Given the description of an element on the screen output the (x, y) to click on. 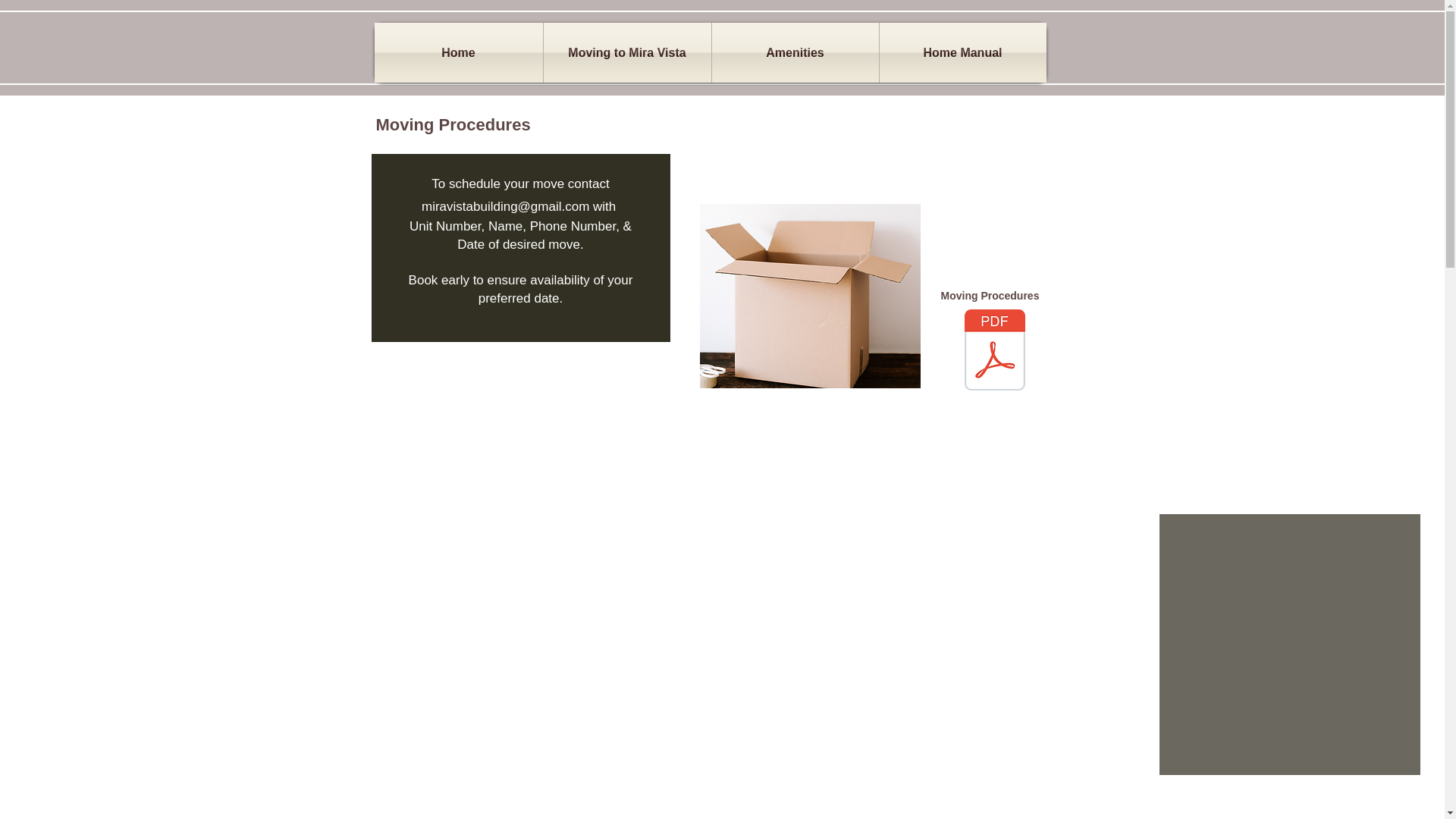
Screen Shot 2021-06-16 at 6.27.07 PM.png (809, 295)
Moving to Mira Vista (626, 52)
Amenities (794, 52)
Home (458, 52)
Home Manual (962, 52)
